Given the description of an element on the screen output the (x, y) to click on. 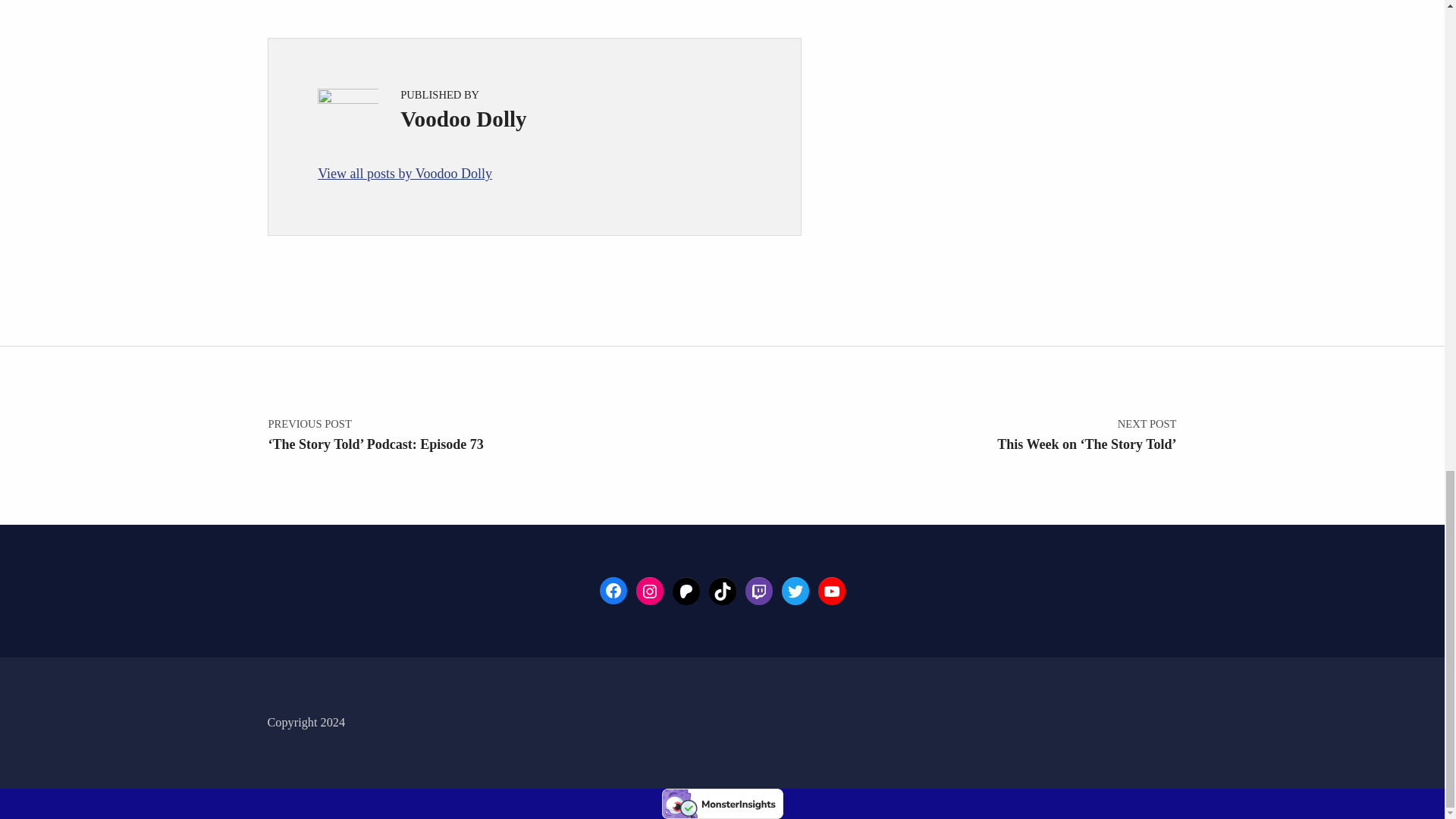
View all posts by Voodoo Dolly (534, 173)
